Given the description of an element on the screen output the (x, y) to click on. 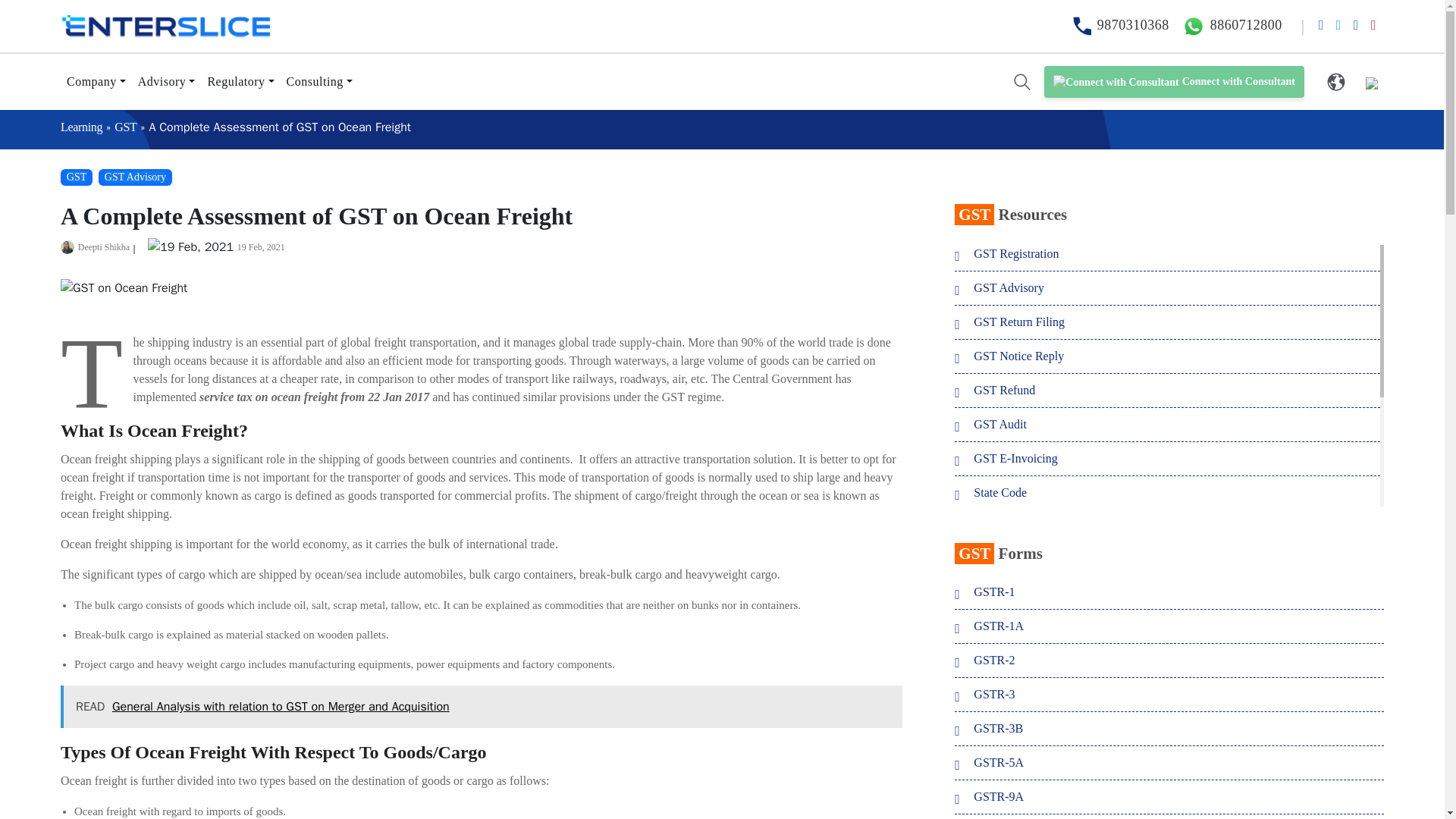
9870310368 (1118, 24)
Posts by Deepti Shikha (103, 246)
Advisory (167, 81)
8860712800 (1229, 24)
Company (96, 81)
